Given the description of an element on the screen output the (x, y) to click on. 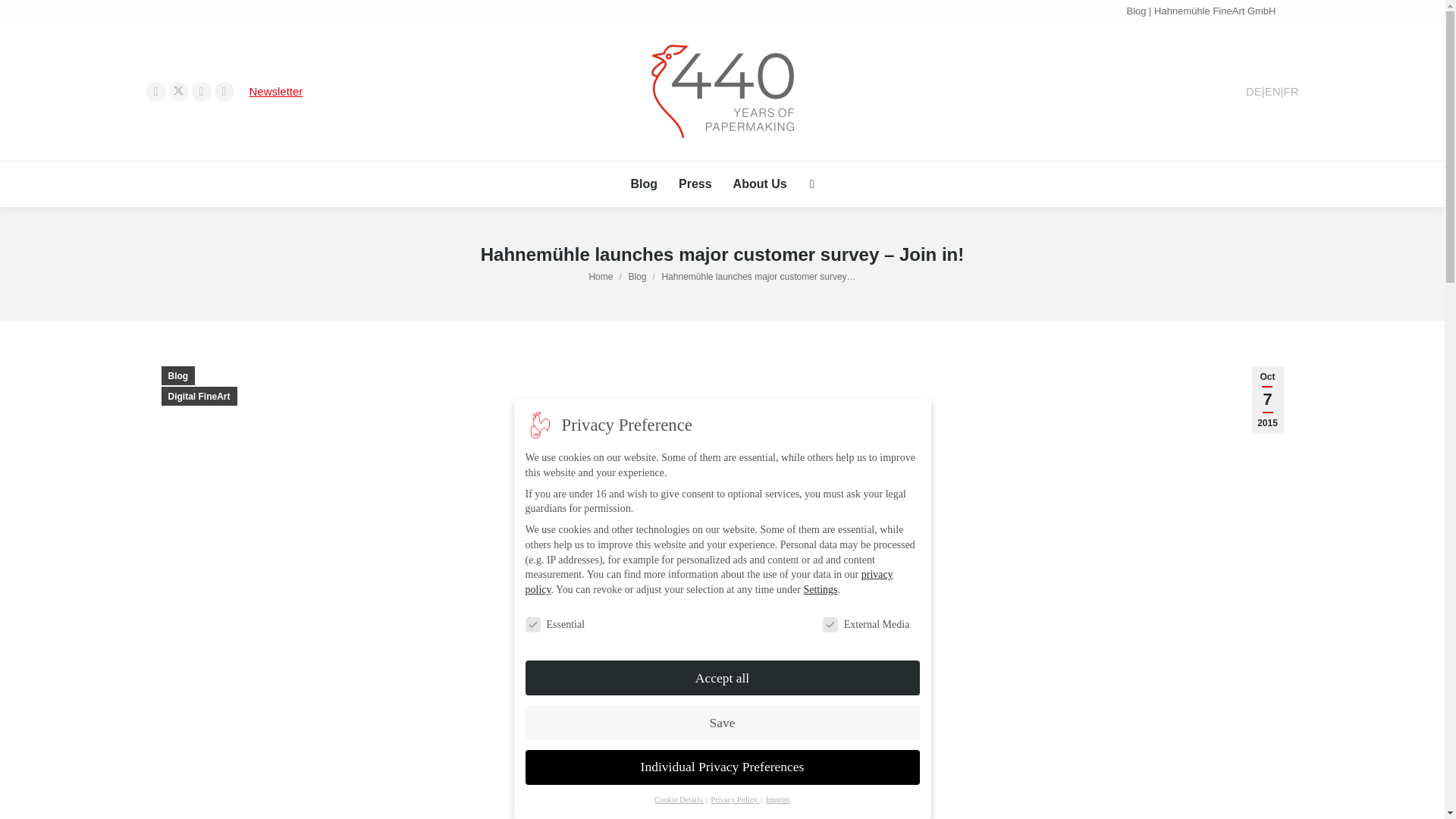
Newsletter subscription (275, 91)
Twitter page opens in new window (177, 91)
FR (1290, 91)
EN (1273, 91)
DE (1254, 91)
Newsletter (275, 91)
Blog (644, 183)
Twitter page opens in new window (177, 91)
Go! (24, 16)
Linkedin page opens in new window (223, 91)
Instagram page opens in new window (200, 91)
Instagram page opens in new window (200, 91)
EN (1273, 91)
About Us (760, 183)
Facebook page opens in new window (155, 91)
